Given the description of an element on the screen output the (x, y) to click on. 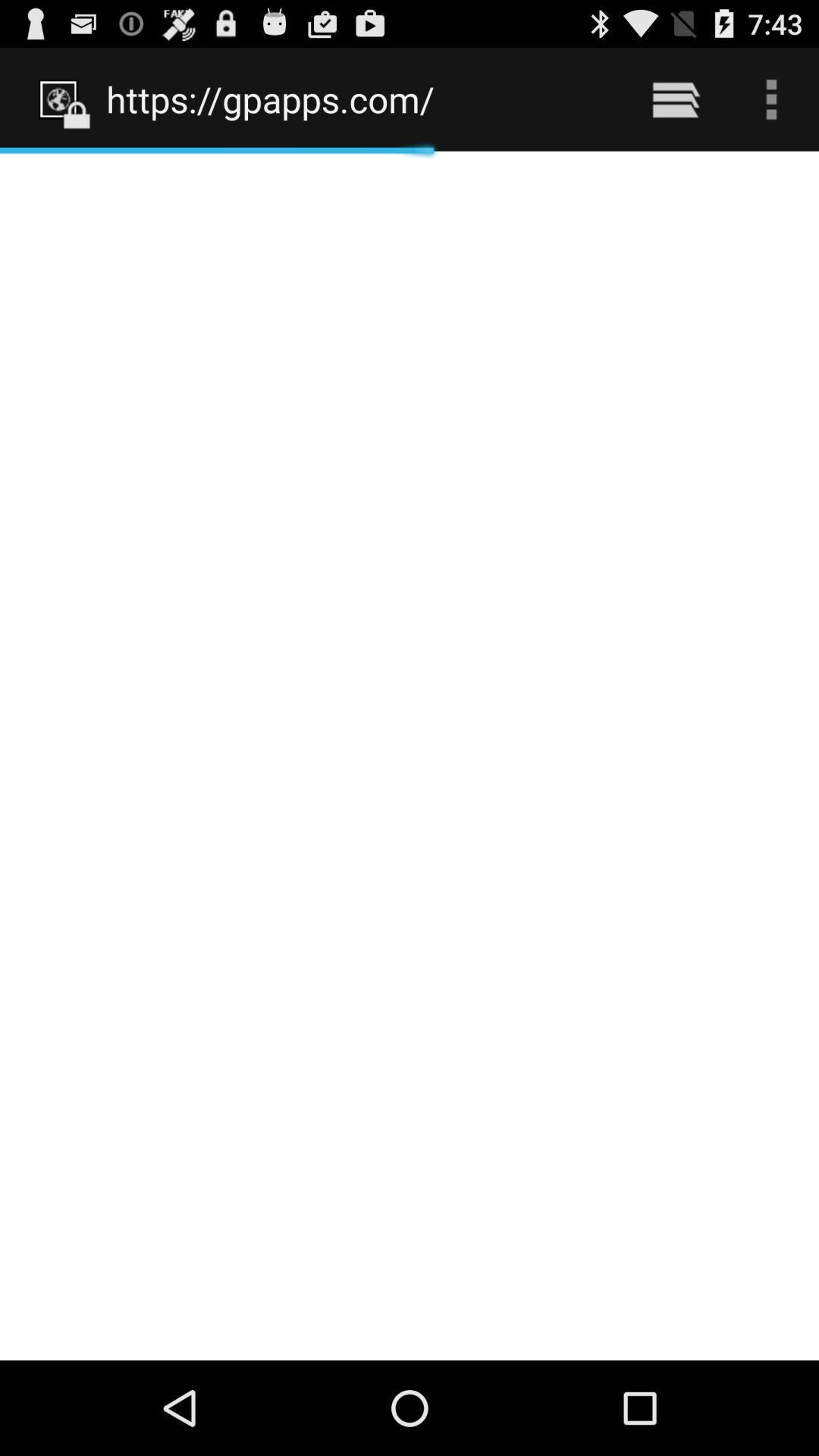
launch the https://gpapps.com/ icon (357, 99)
